Given the description of an element on the screen output the (x, y) to click on. 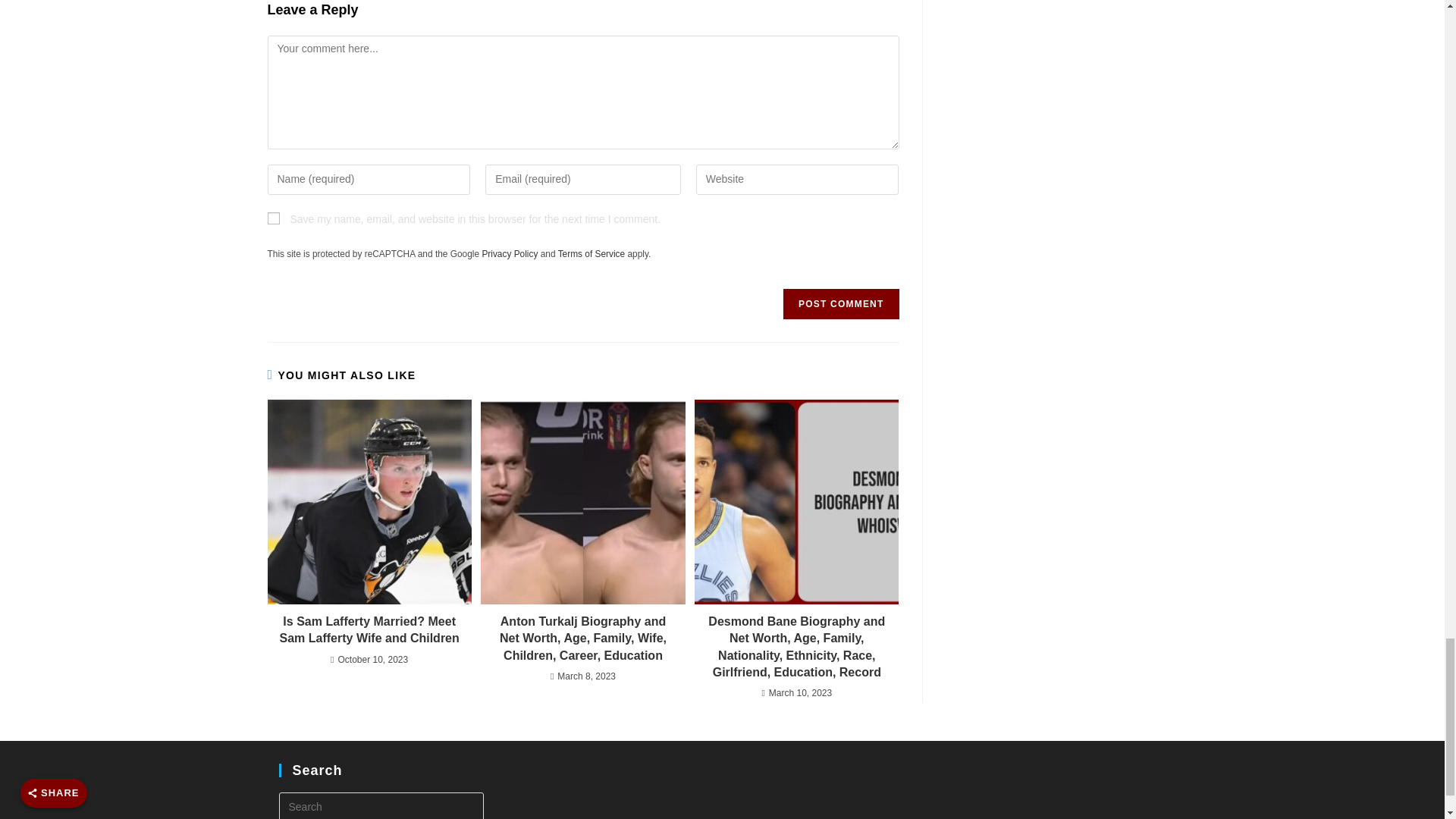
Post Comment (840, 304)
yes (272, 218)
